Given the description of an element on the screen output the (x, y) to click on. 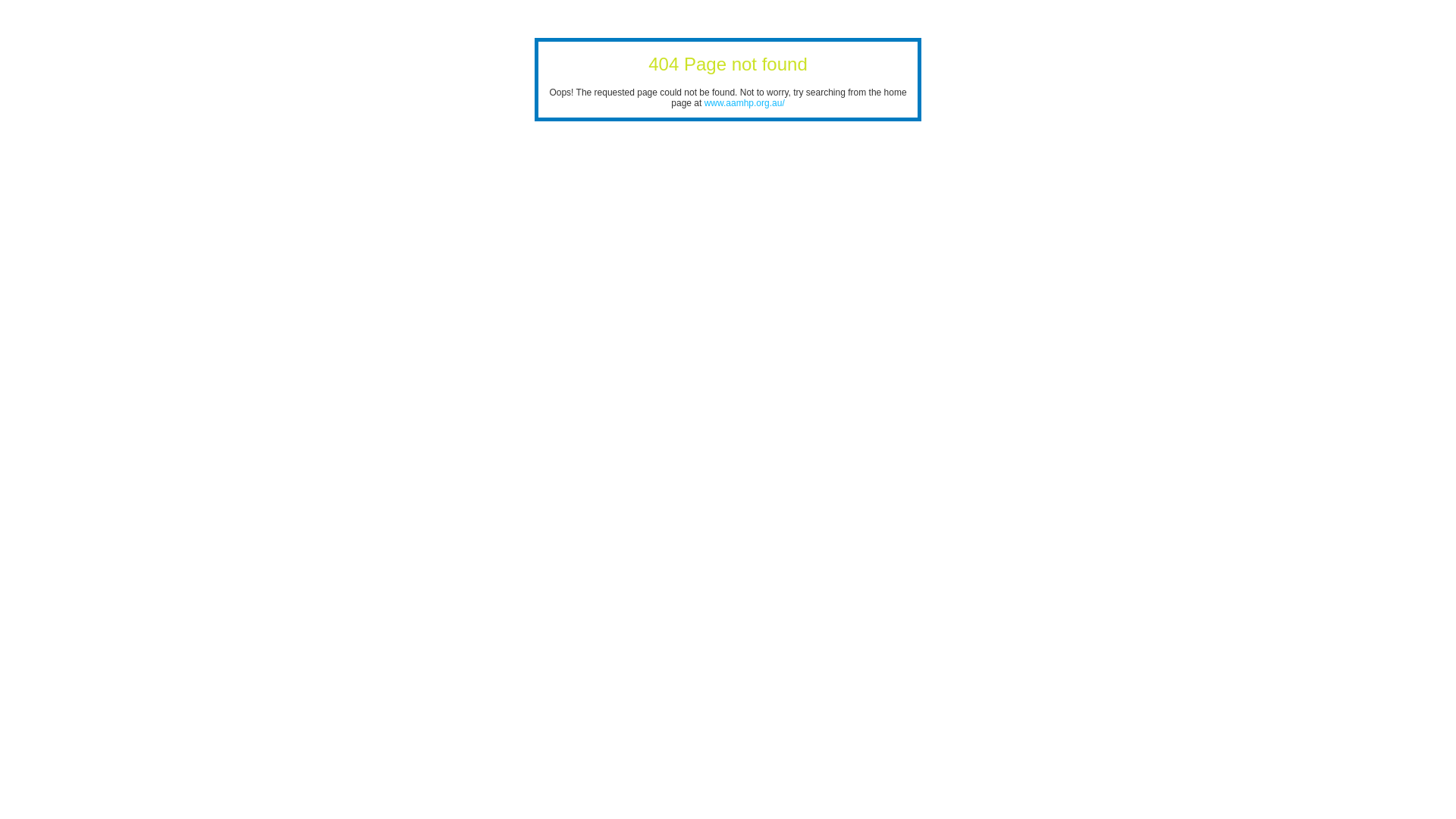
www.aamhp.org.au/ Element type: text (744, 102)
